Given the description of an element on the screen output the (x, y) to click on. 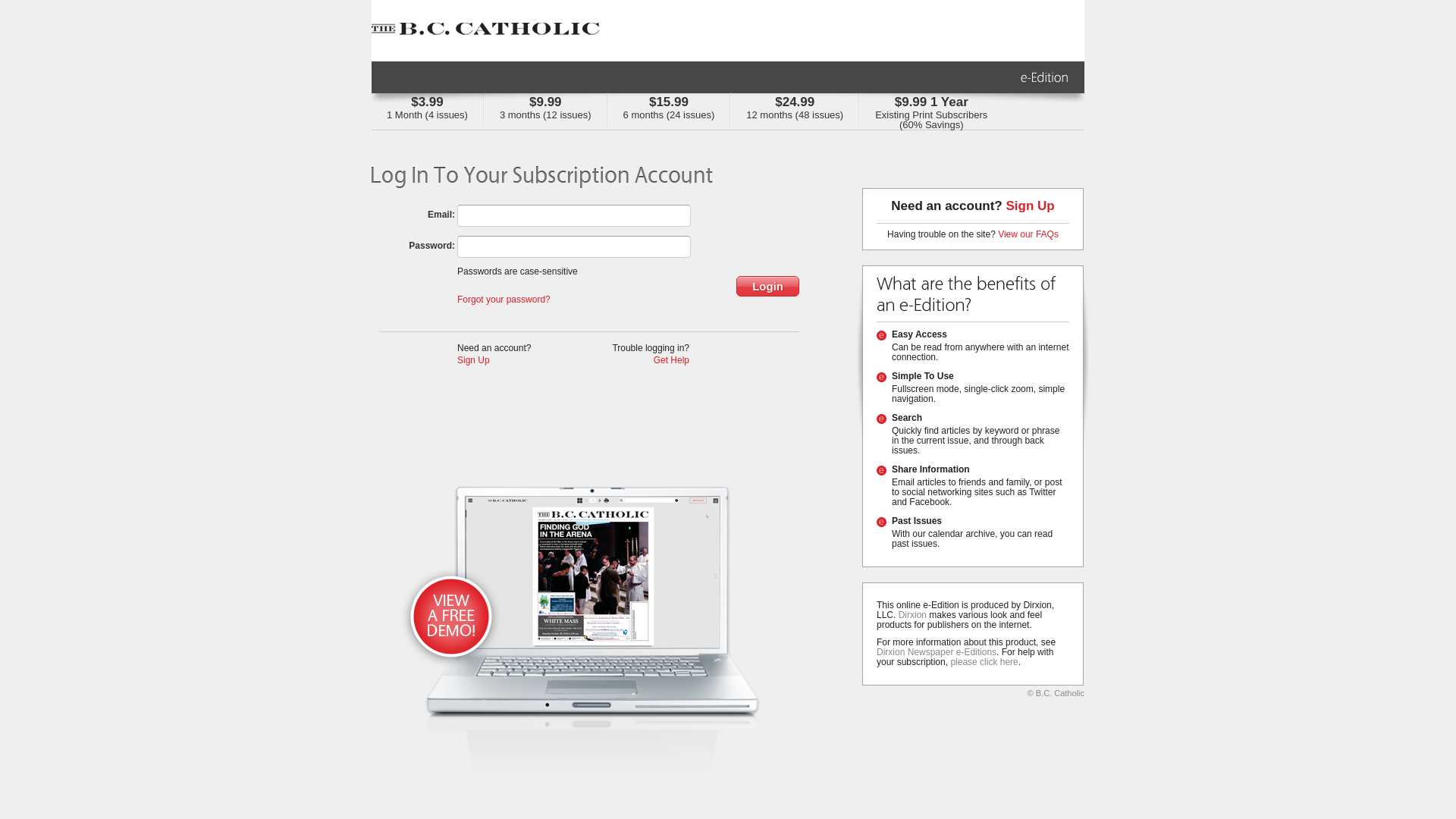
Forgot your password? Element type: text (503, 299)
please click here Element type: text (983, 661)
click to view a free demo Element type: hover (598, 627)
Login Element type: text (767, 286)
Dirxion Newspaper e-Editions Element type: text (936, 651)
Get Help Element type: text (671, 359)
Sign Up Element type: text (473, 359)
View our FAQs Element type: text (1027, 234)
Dirxion Element type: text (912, 614)
Sign Up Element type: text (1029, 205)
